Given the description of an element on the screen output the (x, y) to click on. 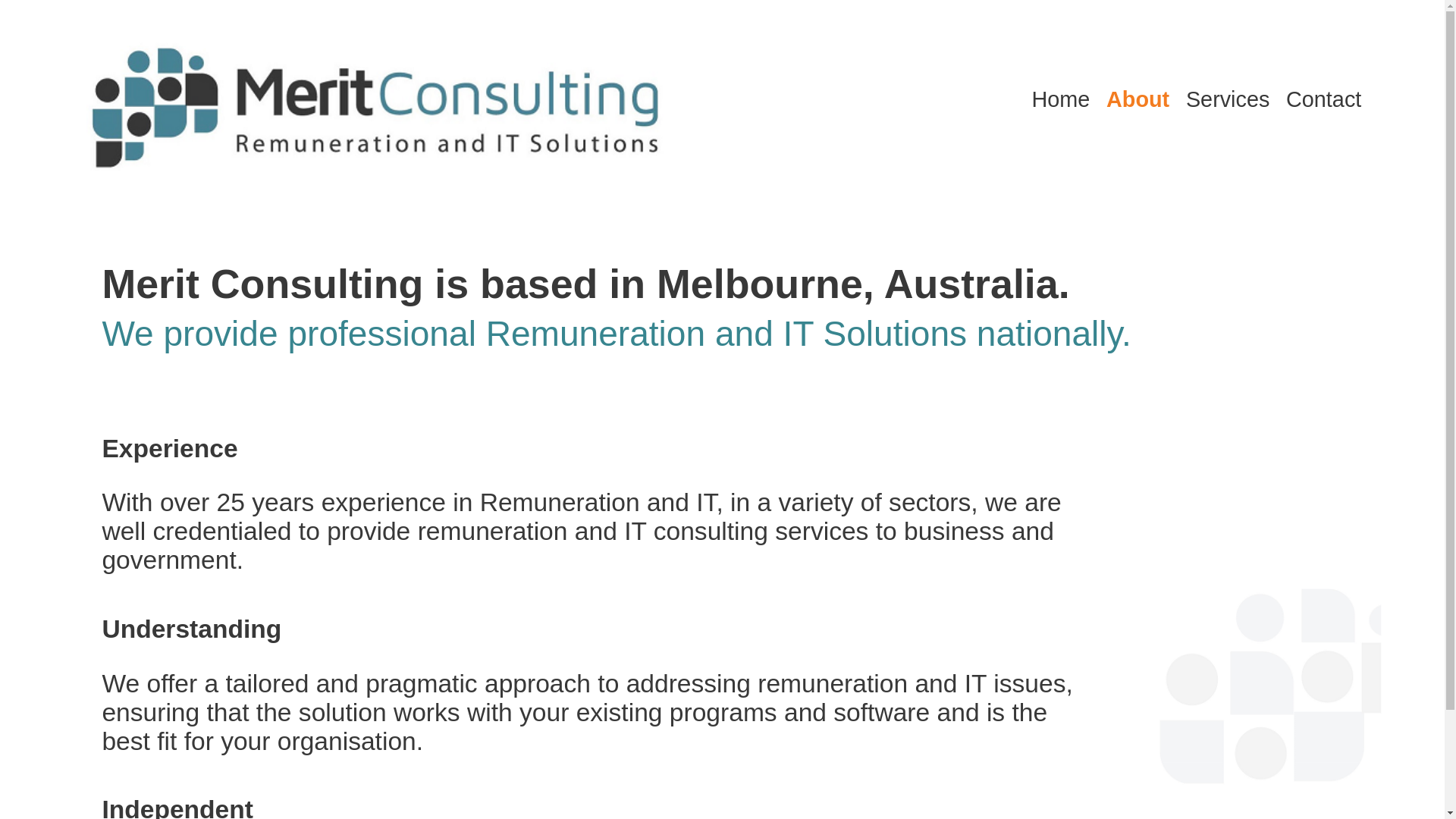
Services Element type: text (1227, 99)
Home Element type: text (1060, 99)
Contact Element type: text (1323, 99)
About Element type: text (1137, 99)
